Given the description of an element on the screen output the (x, y) to click on. 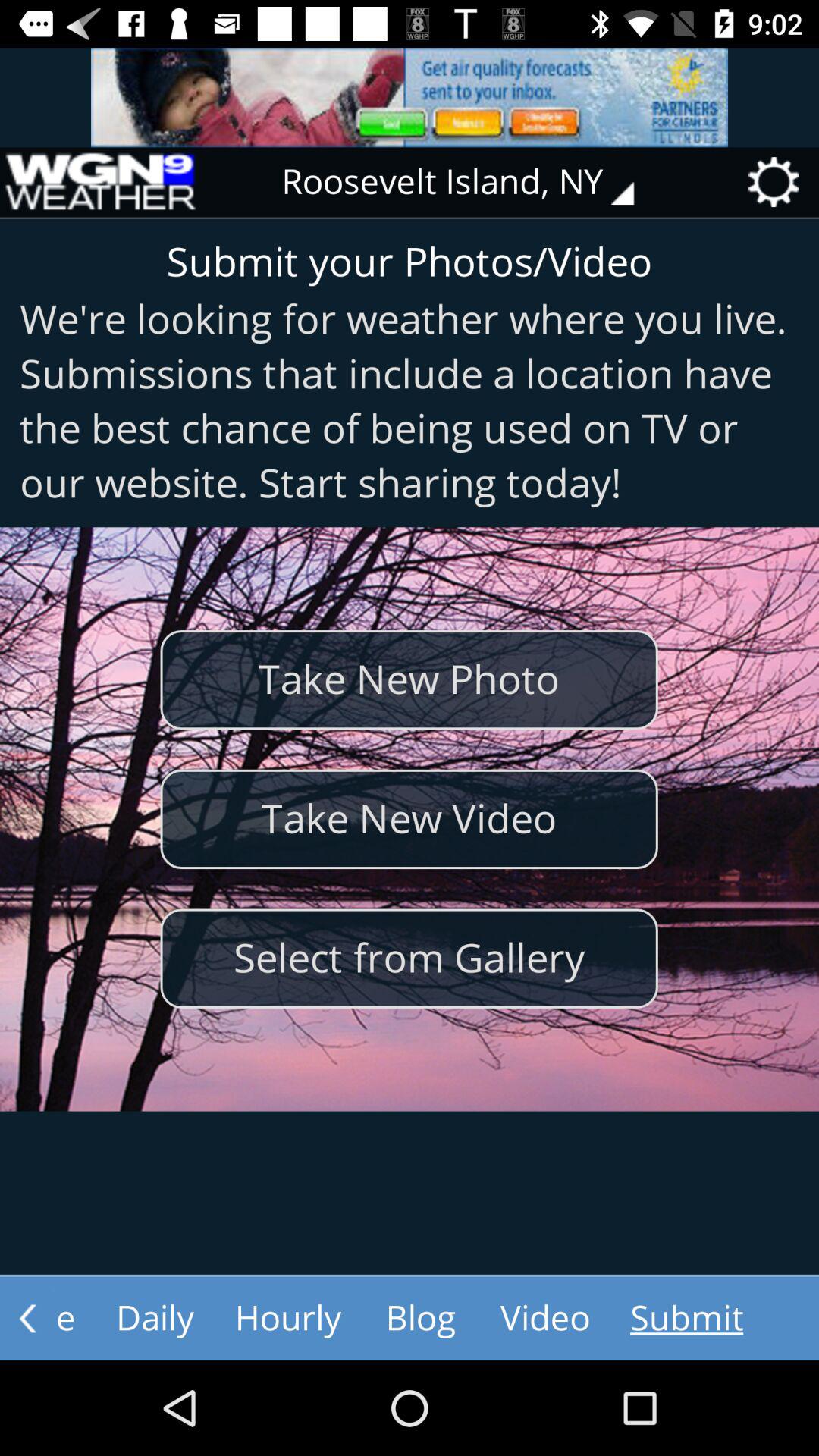
advertisements (409, 97)
